Given the description of an element on the screen output the (x, y) to click on. 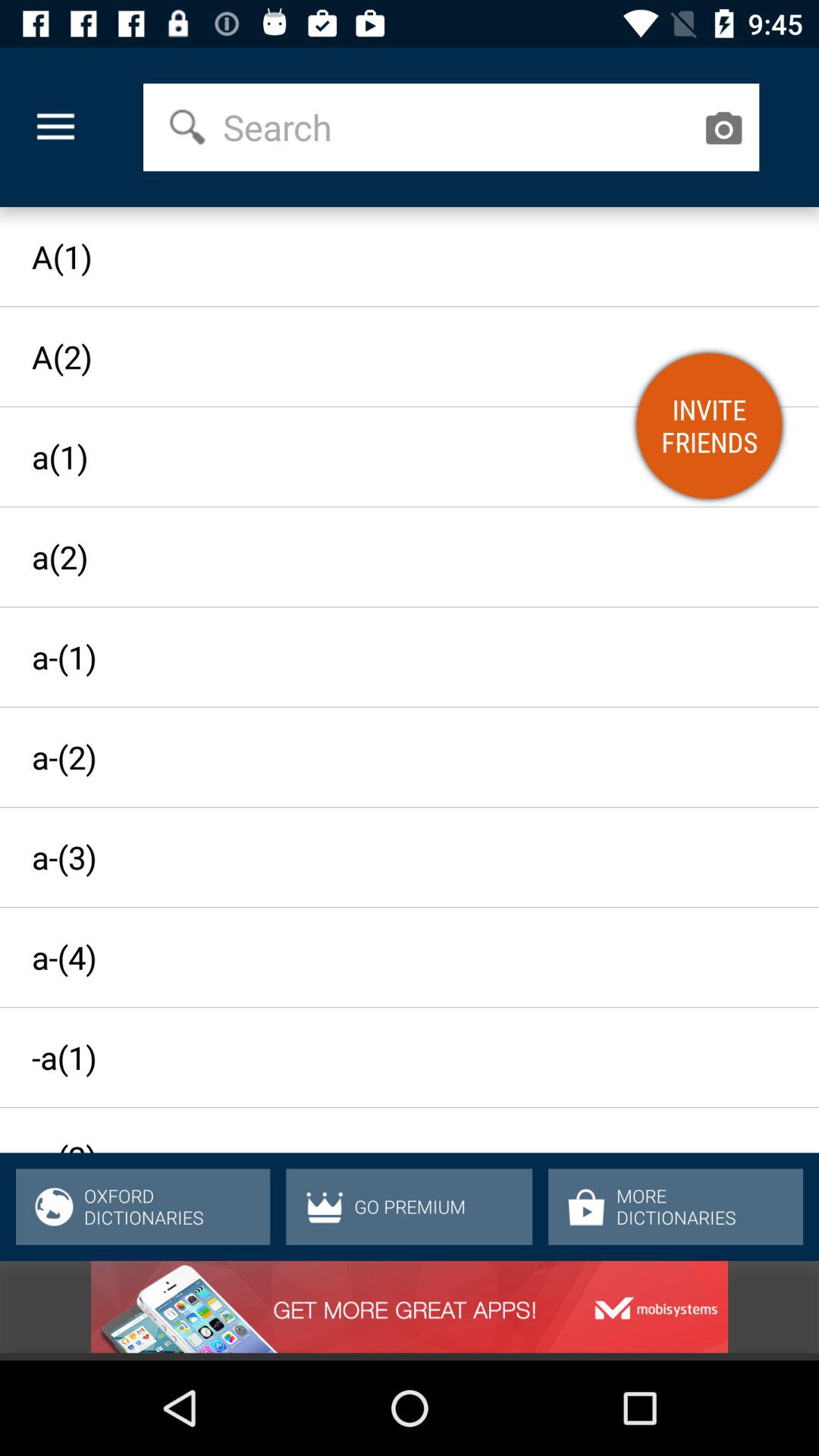
choose item below the a-(3) item (395, 957)
